Given the description of an element on the screen output the (x, y) to click on. 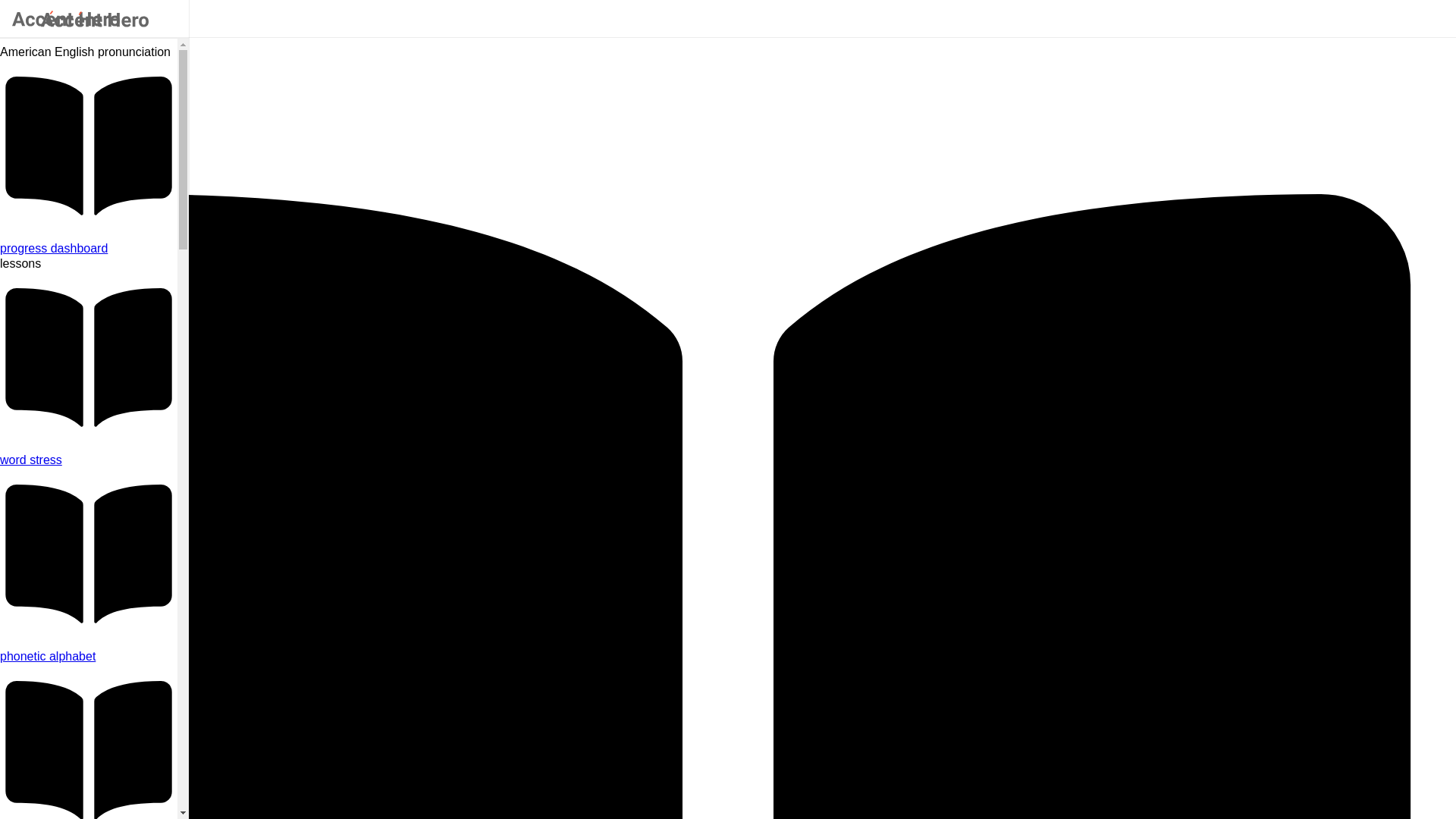
Learn to precisely articulate each sound (88, 656)
Learn how word stress influences your accent (88, 459)
